Given the description of an element on the screen output the (x, y) to click on. 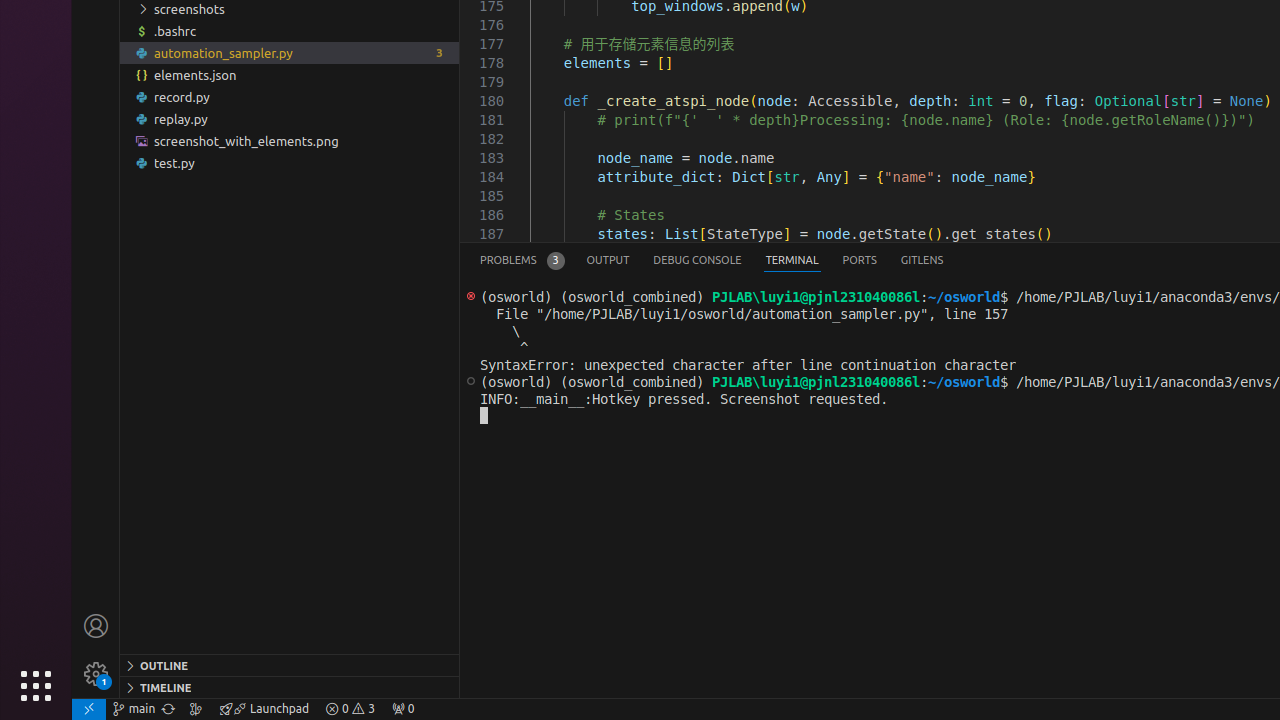
Warnings: 3 Element type: push-button (350, 709)
remote Element type: push-button (89, 709)
Ports Element type: page-tab (859, 260)
Outline Section Element type: push-button (289, 665)
OSWorld (Git) - Synchronize Changes Element type: push-button (168, 709)
